Given the description of an element on the screen output the (x, y) to click on. 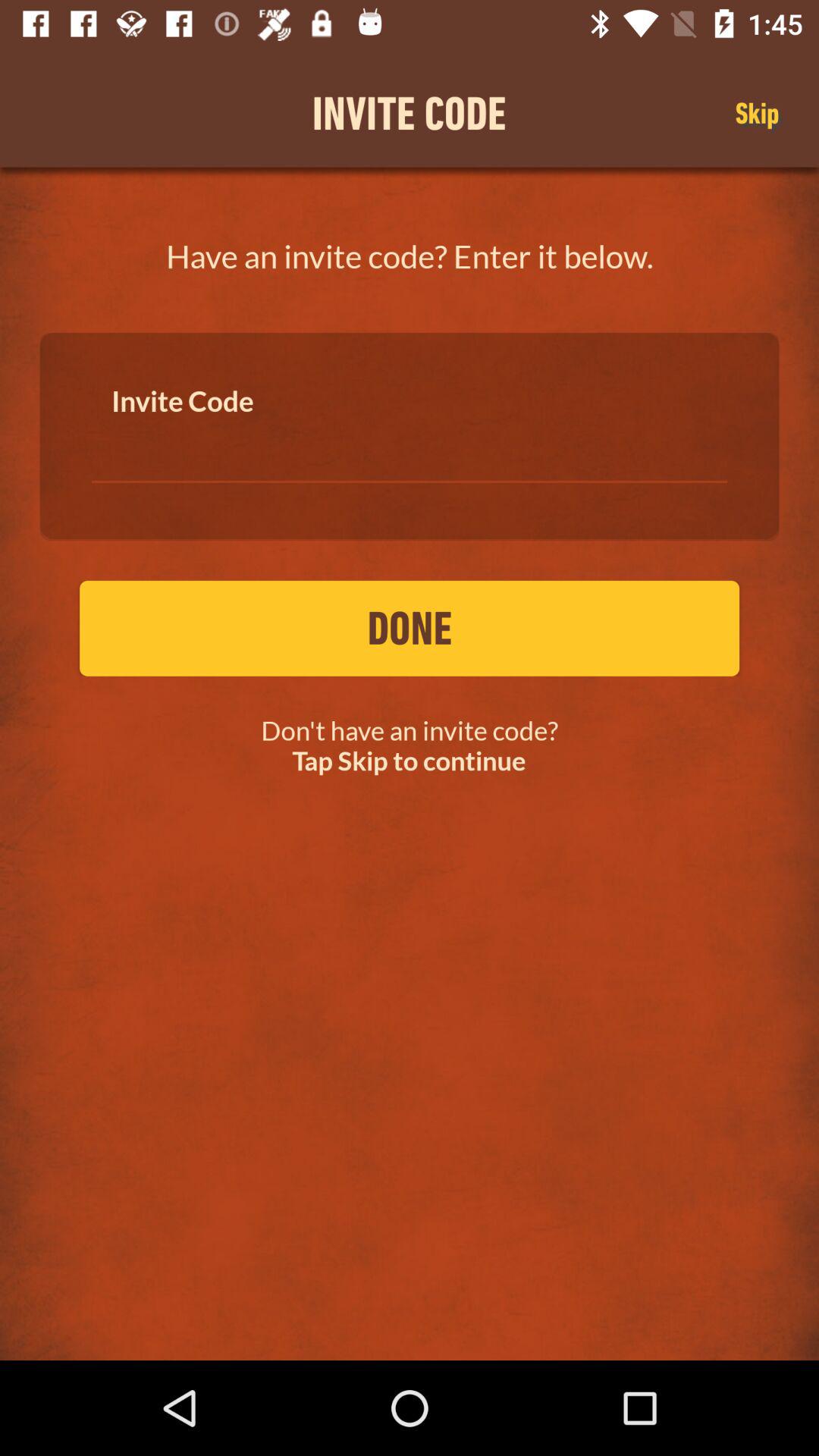
invitational code box (409, 446)
